Given the description of an element on the screen output the (x, y) to click on. 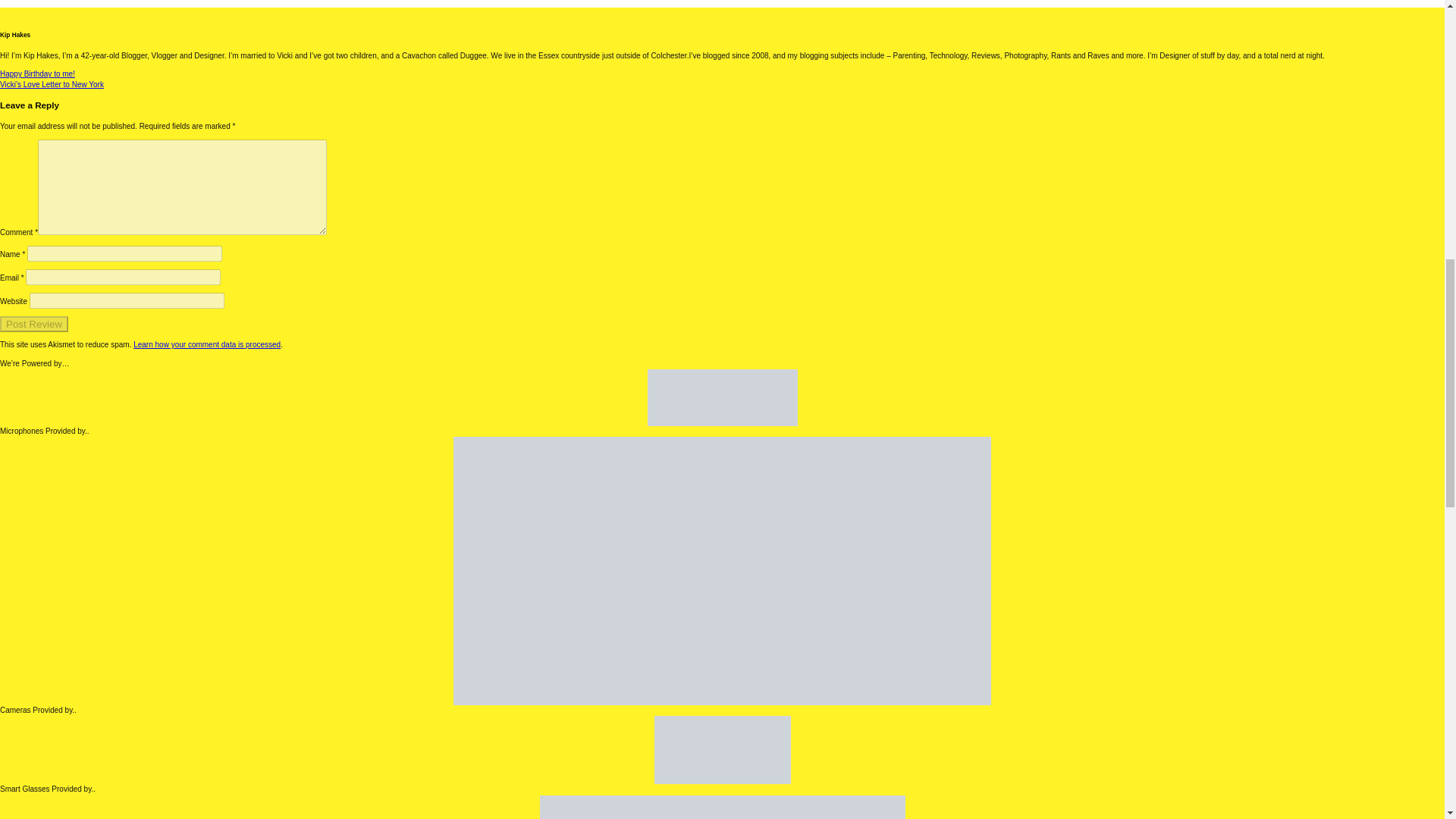
Happy Birthday to me! (37, 73)
Learn how your comment data is processed (207, 344)
Post Review (34, 324)
Post Review (34, 324)
